Given the description of an element on the screen output the (x, y) to click on. 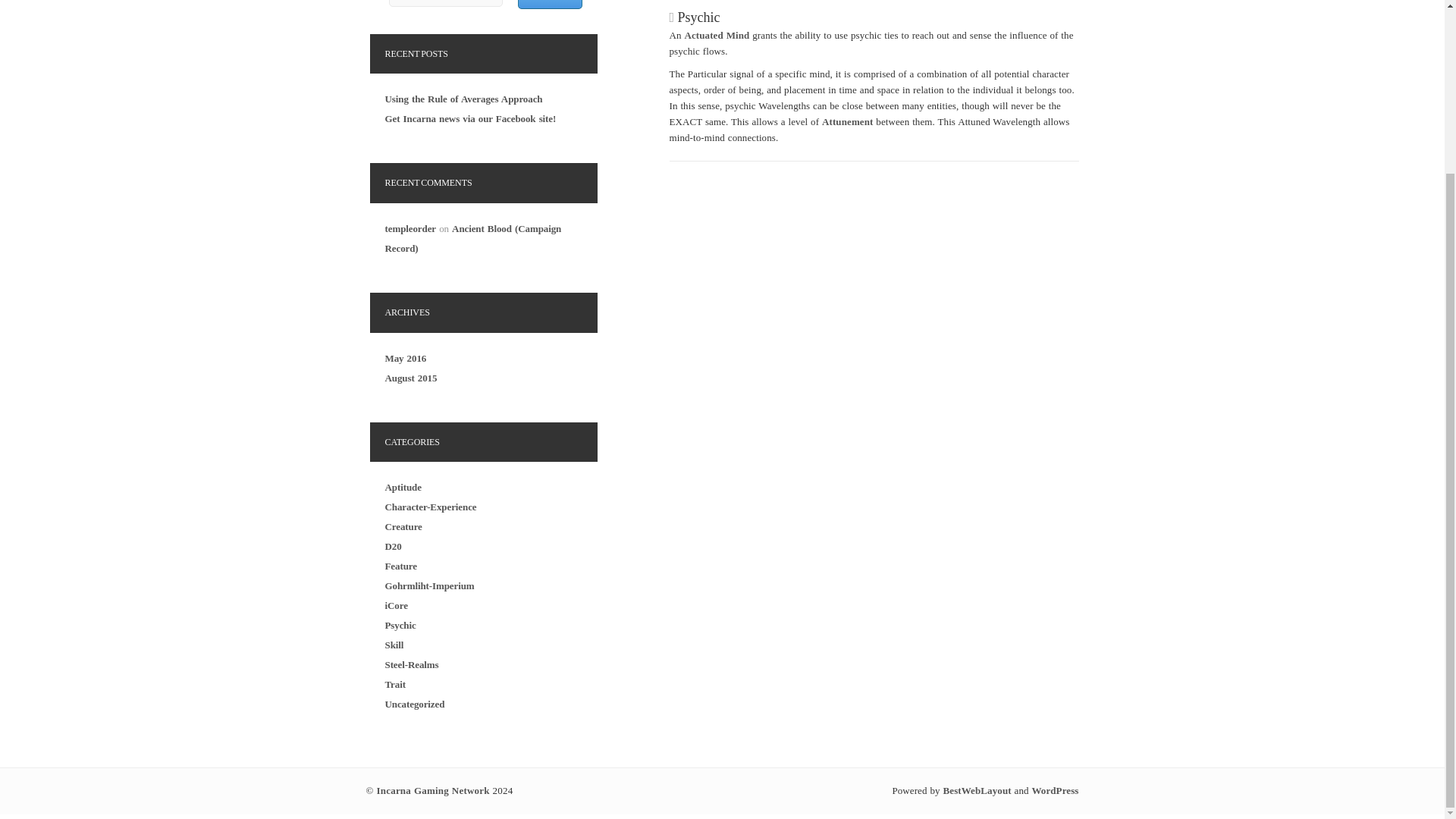
Get Incarna news via our Facebook site! (470, 118)
search (548, 4)
D20 (393, 546)
Incarna Gaming Network (433, 790)
Trait (395, 684)
templeorder (410, 228)
May 2016 (405, 357)
Character-Experience (431, 506)
search (548, 4)
Feature (400, 565)
Psychic (400, 624)
search (548, 4)
Skill (394, 644)
Attunement (847, 121)
iCore (396, 604)
